Given the description of an element on the screen output the (x, y) to click on. 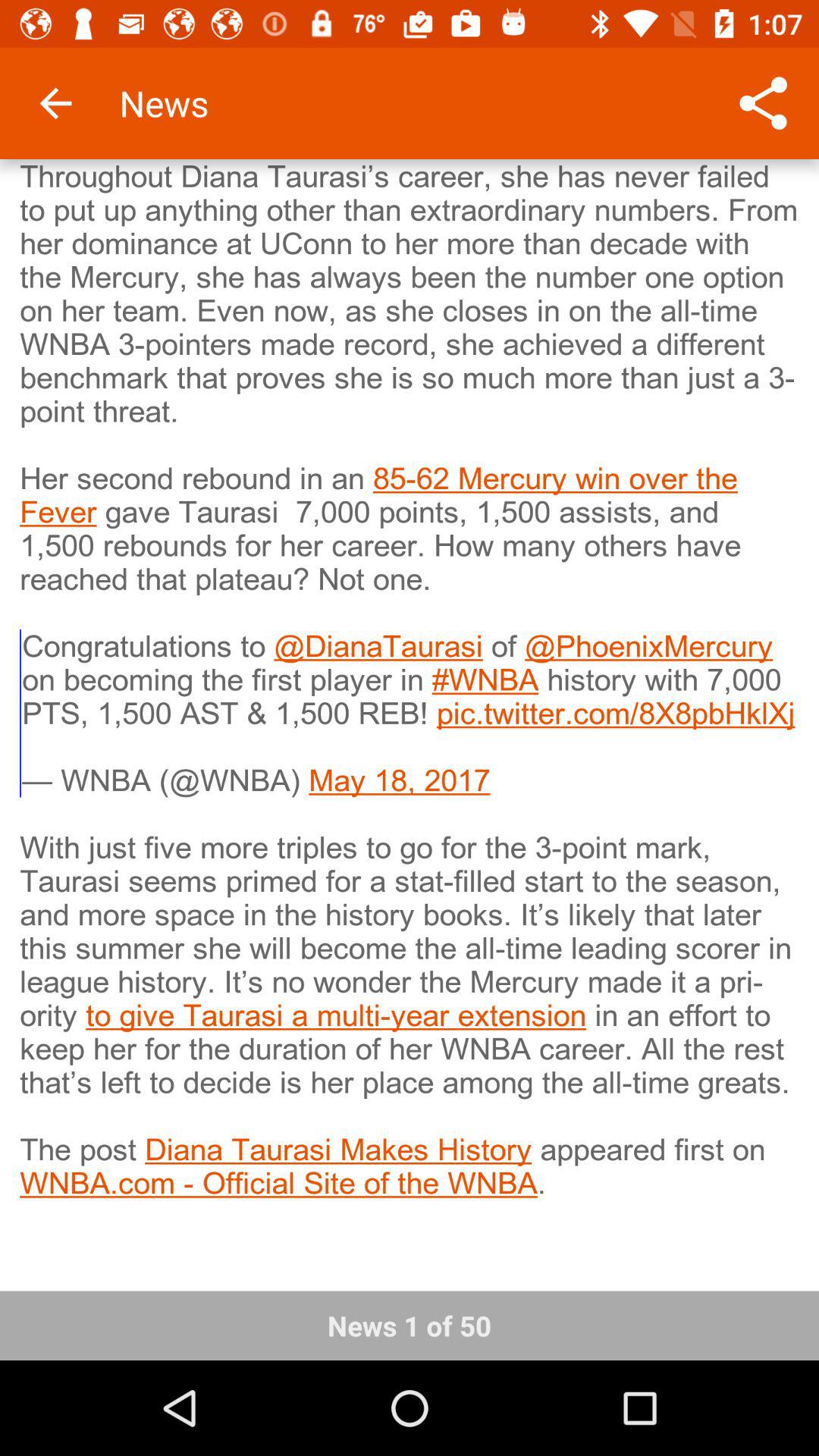
launch the icon next to the news item (55, 103)
